Given the description of an element on the screen output the (x, y) to click on. 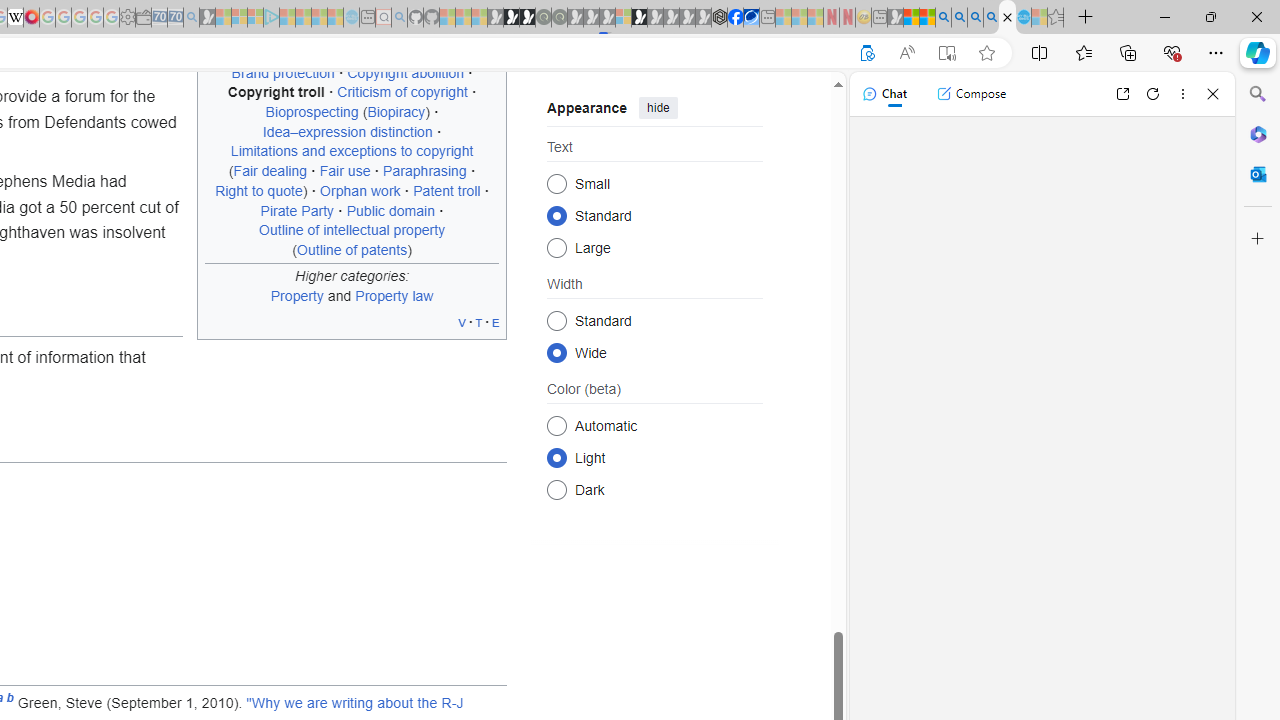
Split screen (1039, 52)
Right to quote) (261, 190)
Patent troll (447, 190)
Light (556, 457)
Microsoft account | Privacy - Sleeping (255, 17)
Google Chrome Internet Browser Download - Search Images (991, 17)
Settings and more (Alt+F) (1215, 52)
Cheap Car Rentals - Save70.com - Sleeping (175, 17)
Fair dealing (270, 171)
Fair use (344, 171)
Sign in to your account - Sleeping (623, 17)
